Given the description of an element on the screen output the (x, y) to click on. 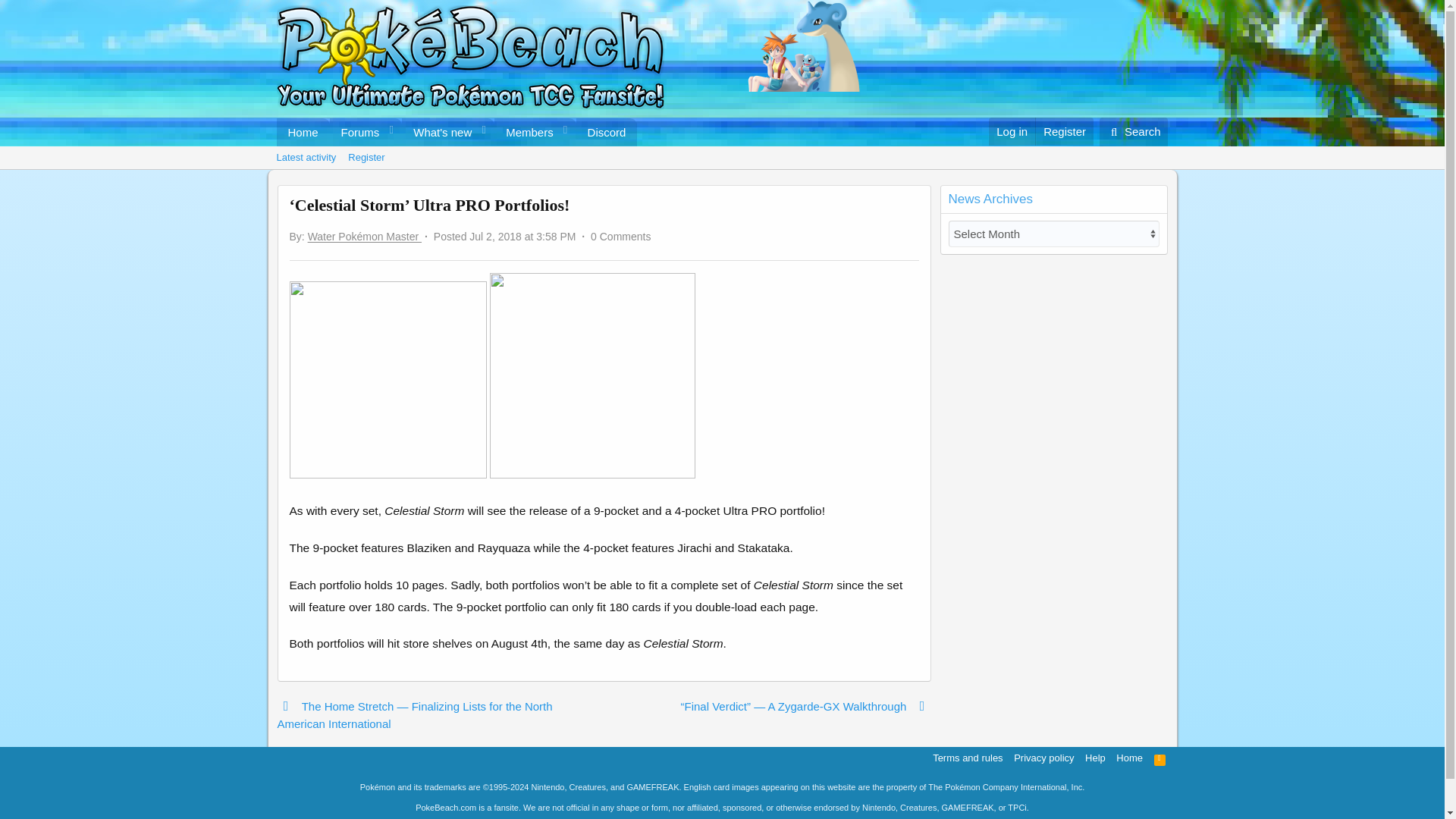
Latest activity (305, 157)
Register (721, 157)
Search (456, 131)
What's new (366, 157)
Forums (1134, 131)
Discord (437, 131)
Home (355, 131)
